Given the description of an element on the screen output the (x, y) to click on. 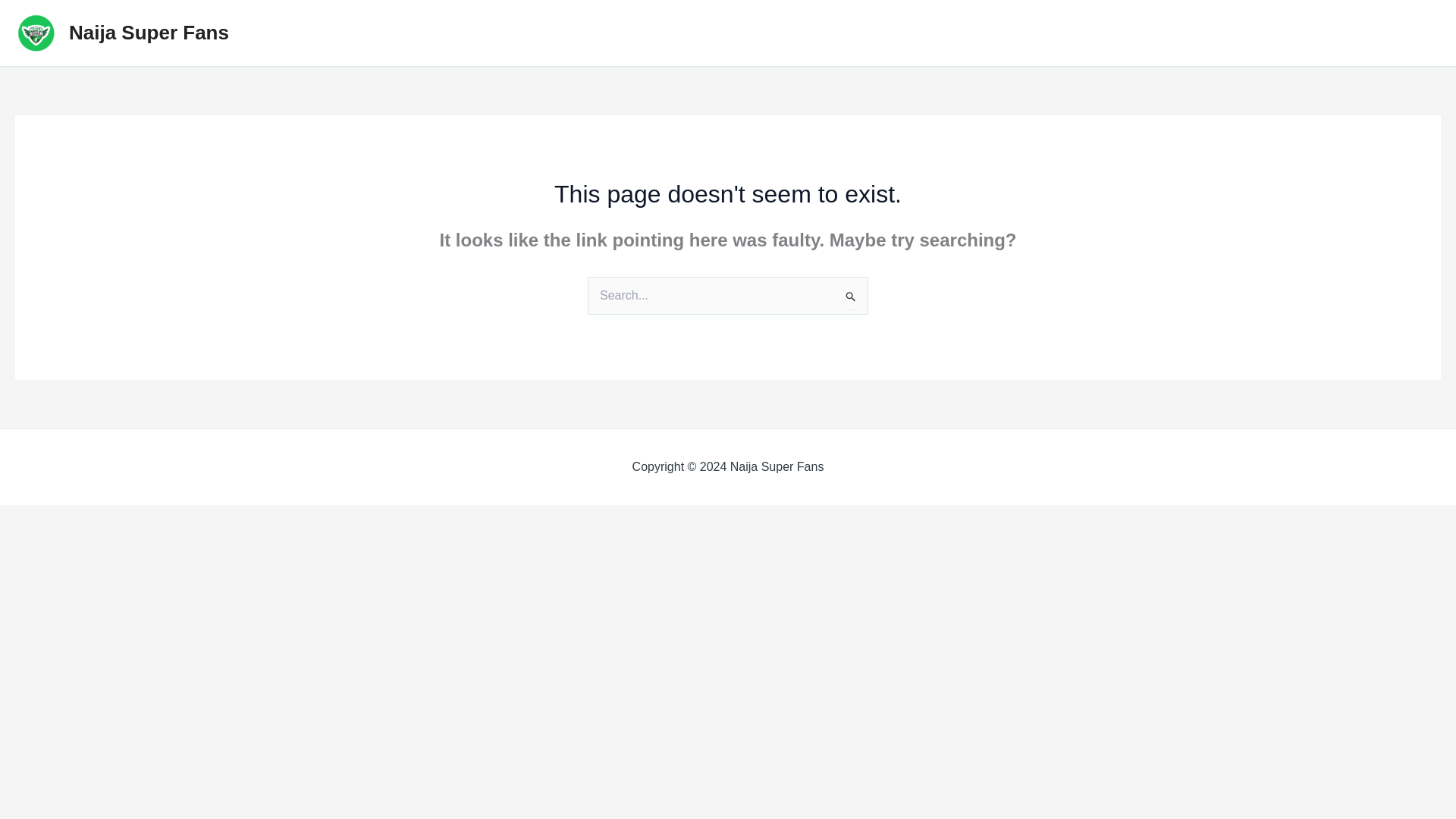
Naija Super Fans (148, 32)
